Given the description of an element on the screen output the (x, y) to click on. 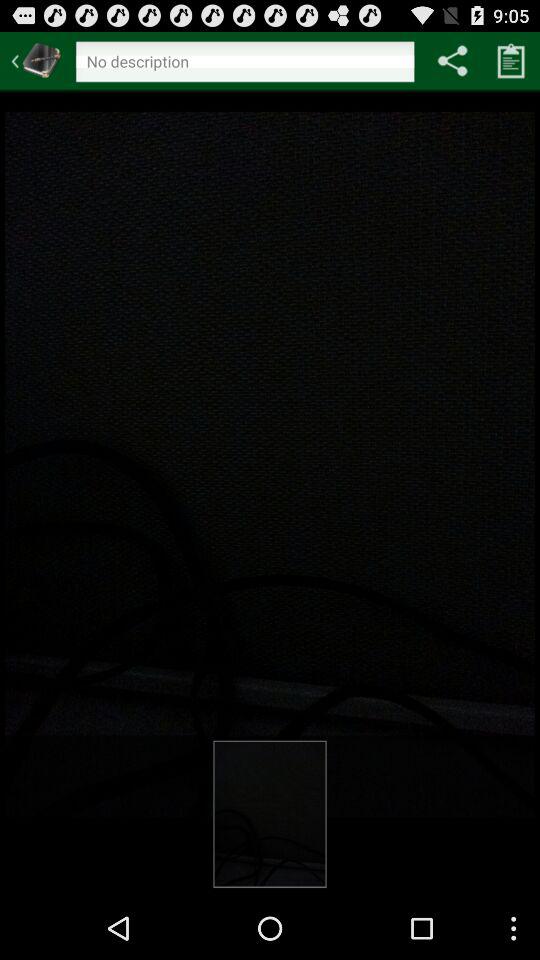
save notes (511, 60)
